Given the description of an element on the screen output the (x, y) to click on. 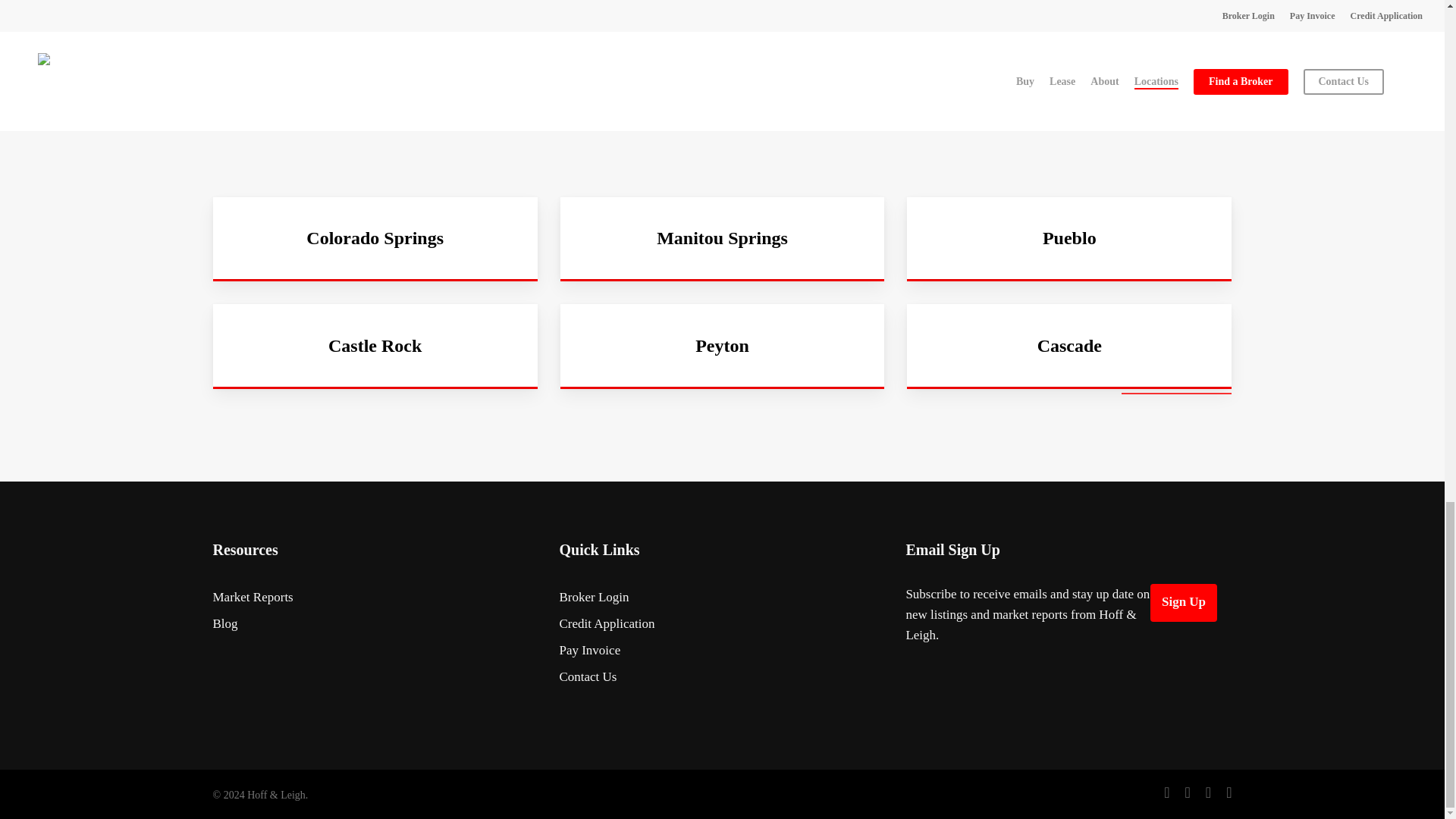
Credit Application (722, 623)
Market Reports (375, 597)
View All Submarkets (1176, 383)
Blog (375, 623)
Contact Us (722, 676)
Broker Login (722, 597)
Pay Invoice (722, 649)
Sign Up (1183, 602)
